Given the description of an element on the screen output the (x, y) to click on. 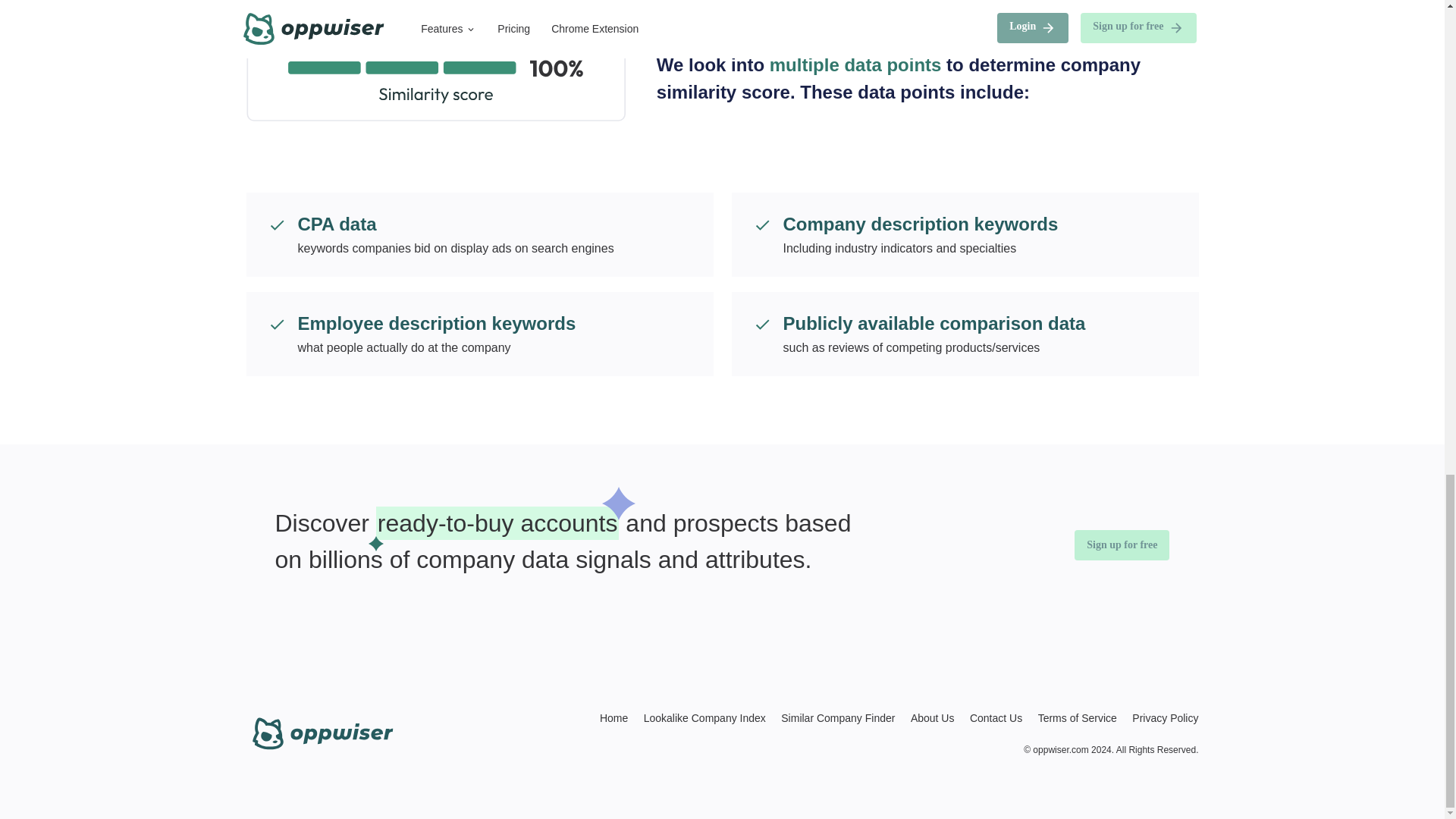
Terms of Service (1071, 717)
Sign up for free (1121, 544)
Privacy Policy (1158, 717)
Contact Us (990, 717)
Home (607, 717)
About Us (926, 717)
Similar Company Finder (831, 717)
Lookalike Company Index (698, 717)
